Given the description of an element on the screen output the (x, y) to click on. 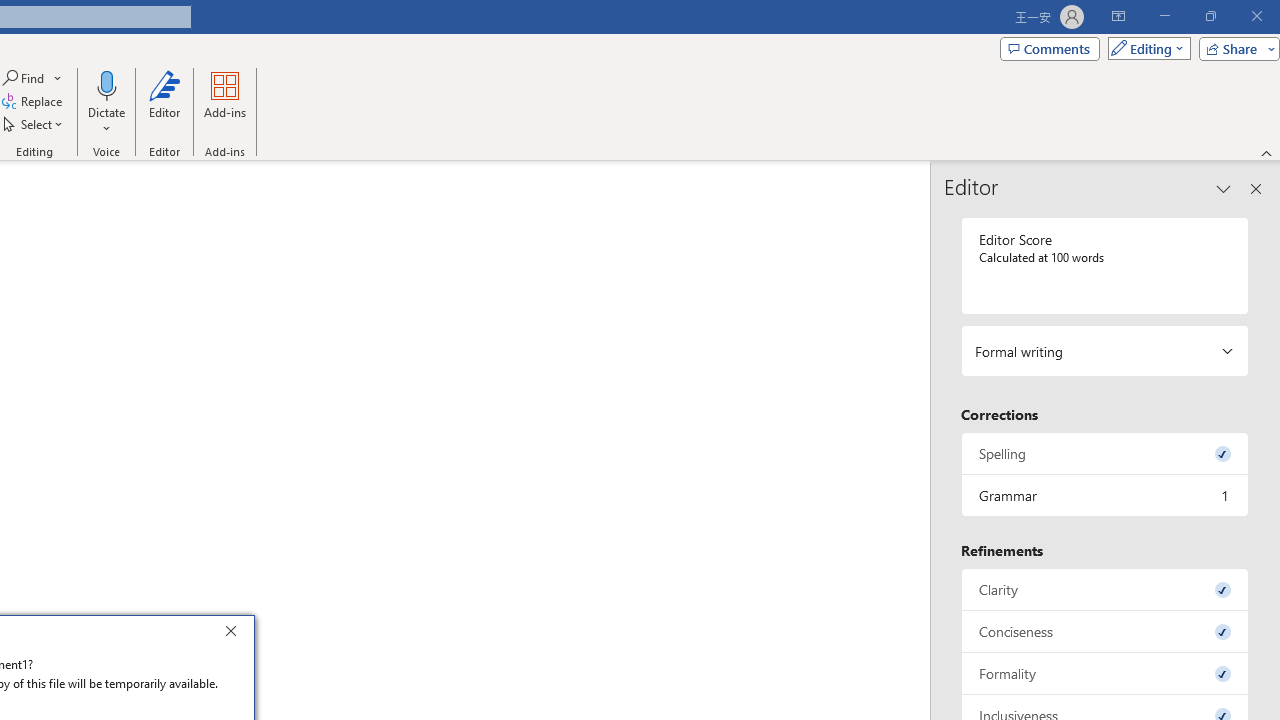
Collapse the Ribbon (1267, 152)
Share (1235, 48)
Comments (1049, 48)
Minimize (1164, 16)
Editing (1144, 47)
More Options (106, 121)
Grammar, 1 issue. Press space or enter to review items. (1105, 495)
Dictate (106, 84)
Ribbon Display Options (1118, 16)
Editor (164, 102)
Task Pane Options (1224, 188)
Close pane (1256, 188)
Restore Down (1210, 16)
